Given the description of an element on the screen output the (x, y) to click on. 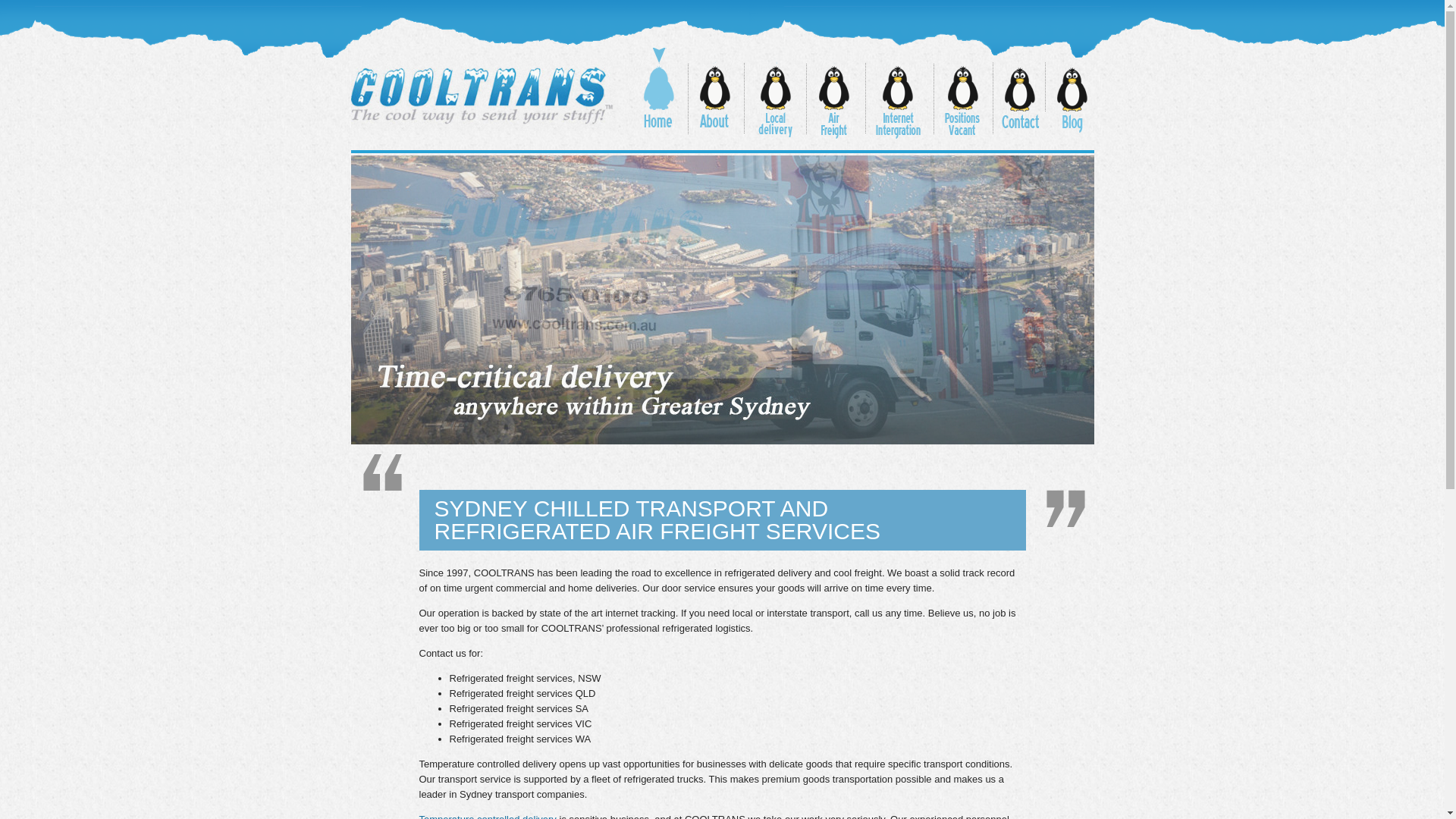
Internet Integration Element type: text (898, 93)
About Element type: text (715, 93)
Positions Vacant Element type: text (961, 93)
Home Element type: text (655, 93)
Blog Element type: text (1069, 93)
Local Delivery Element type: text (774, 93)
Contact Element type: text (1016, 93)
Air Freight Element type: text (834, 93)
